Given the description of an element on the screen output the (x, y) to click on. 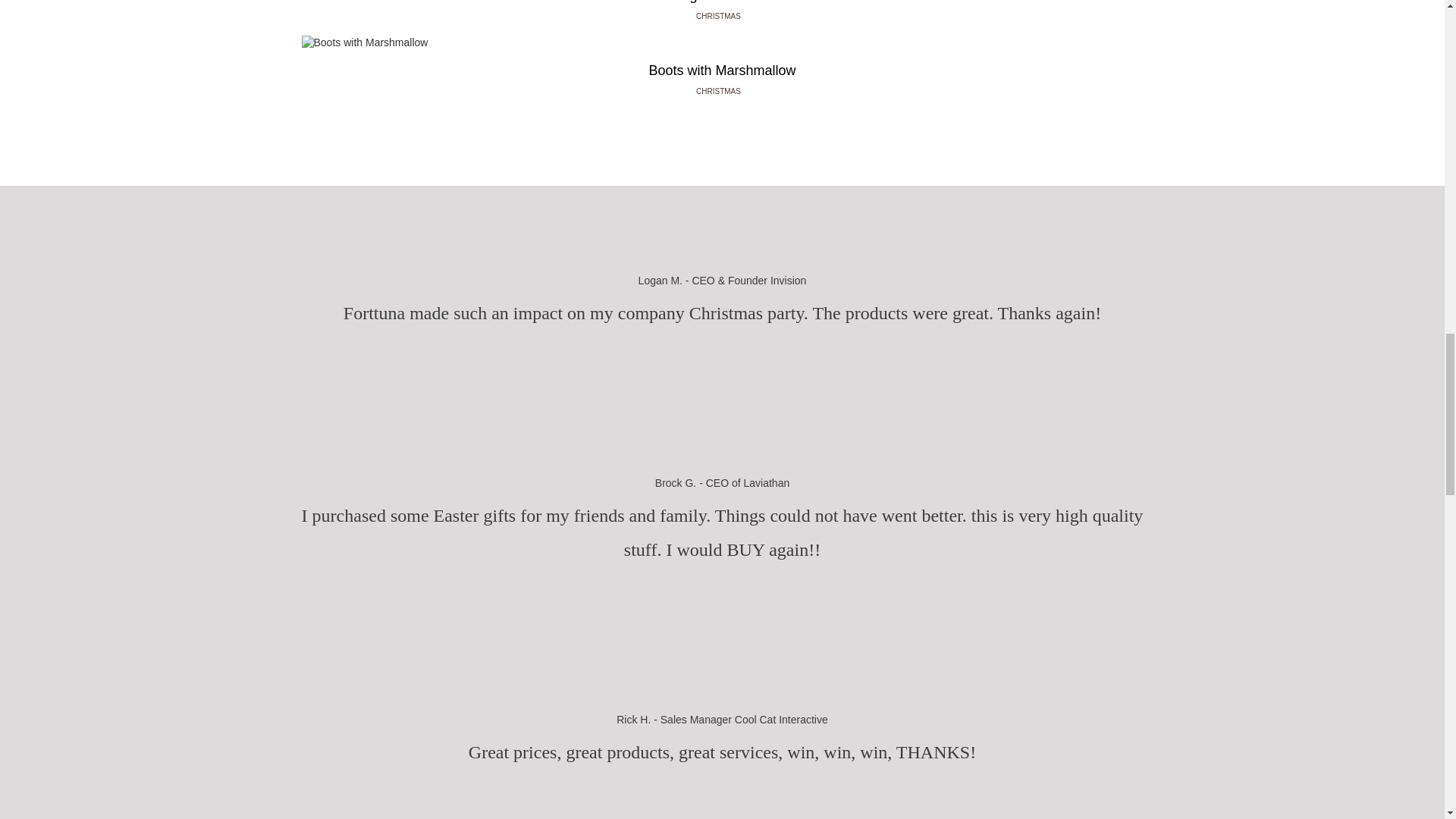
CHRISTMAS (721, 16)
CHRISTMAS (721, 90)
Boots with Marshmallow (721, 70)
